Given the description of an element on the screen output the (x, y) to click on. 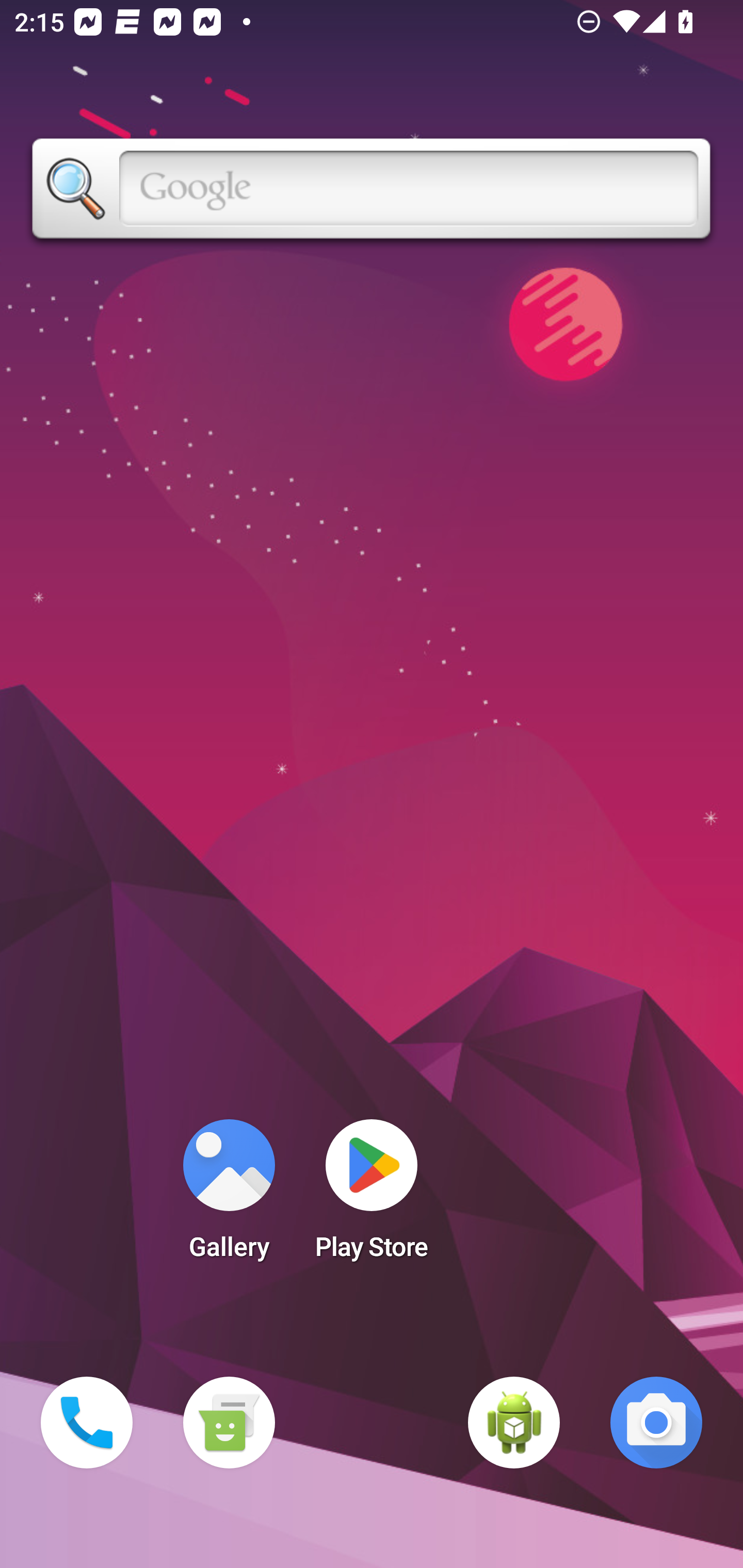
Gallery (228, 1195)
Play Store (371, 1195)
Phone (86, 1422)
Messaging (228, 1422)
WebView Browser Tester (513, 1422)
Camera (656, 1422)
